Given the description of an element on the screen output the (x, y) to click on. 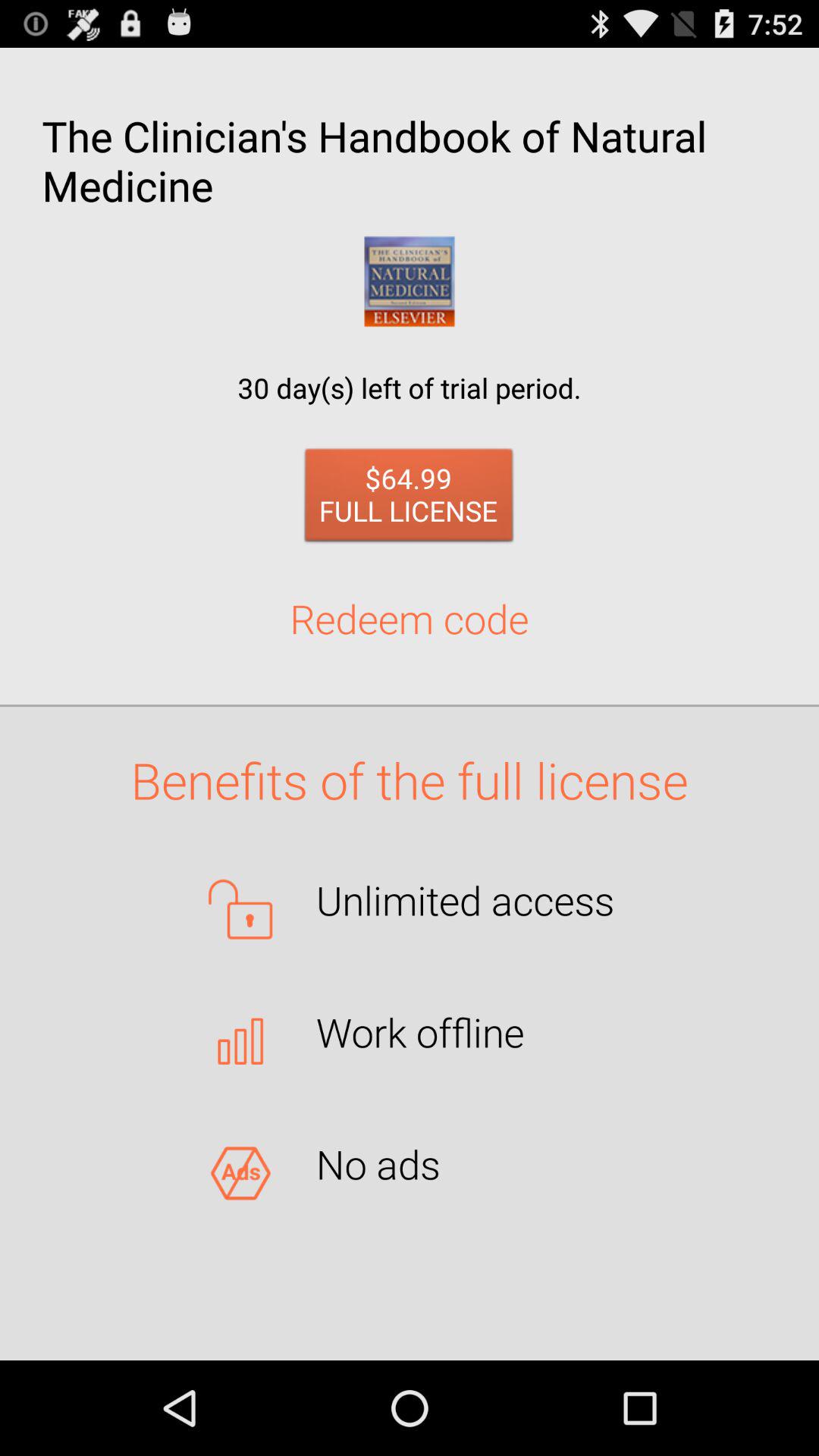
choose icon below 30 day s app (409, 499)
